Given the description of an element on the screen output the (x, y) to click on. 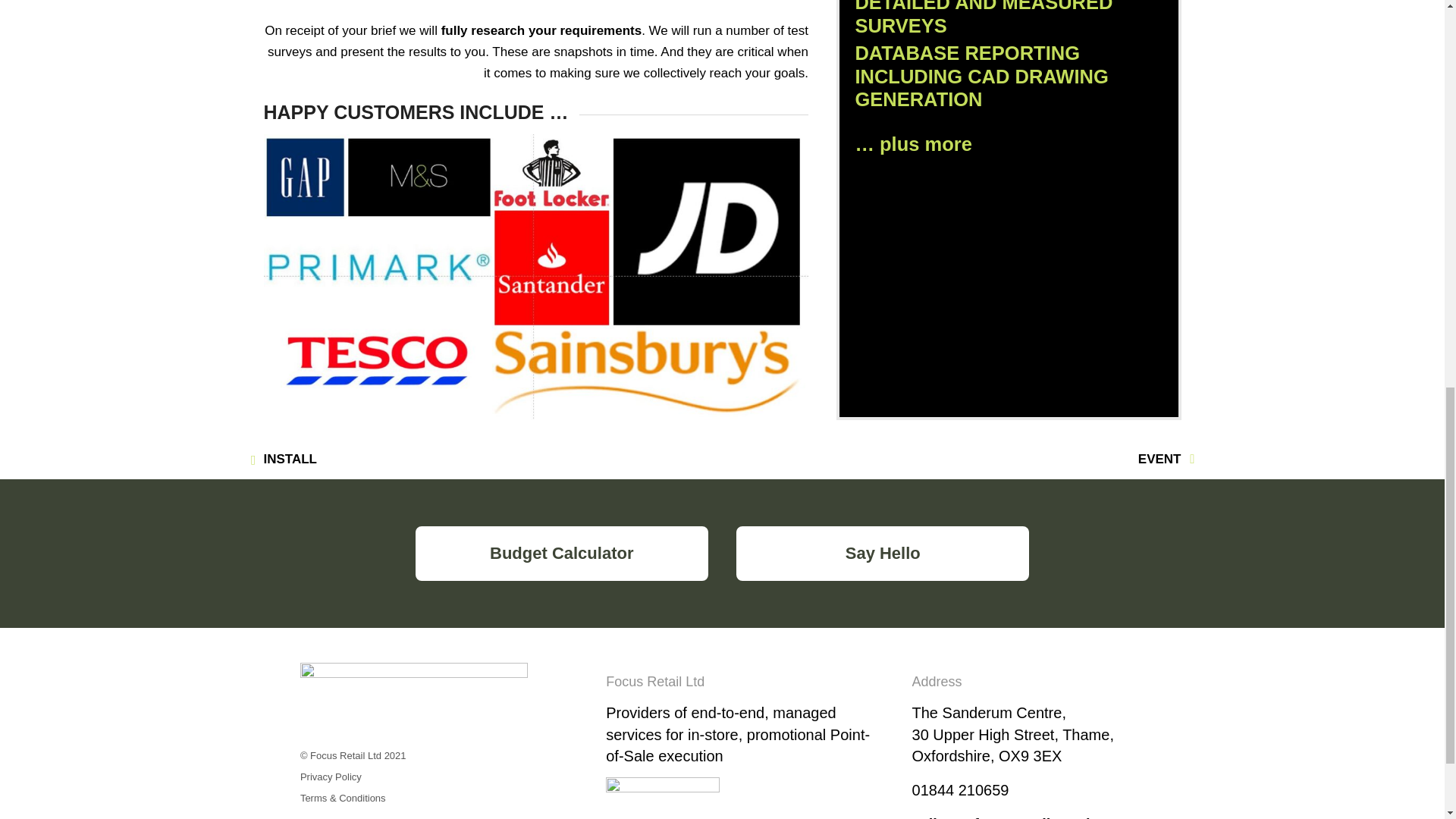
Budget Calculator (561, 553)
Install (290, 459)
Event (1159, 459)
Privacy Policy (330, 776)
Say Hello (882, 553)
INSTALL (290, 459)
EVENT (1159, 459)
